Given the description of an element on the screen output the (x, y) to click on. 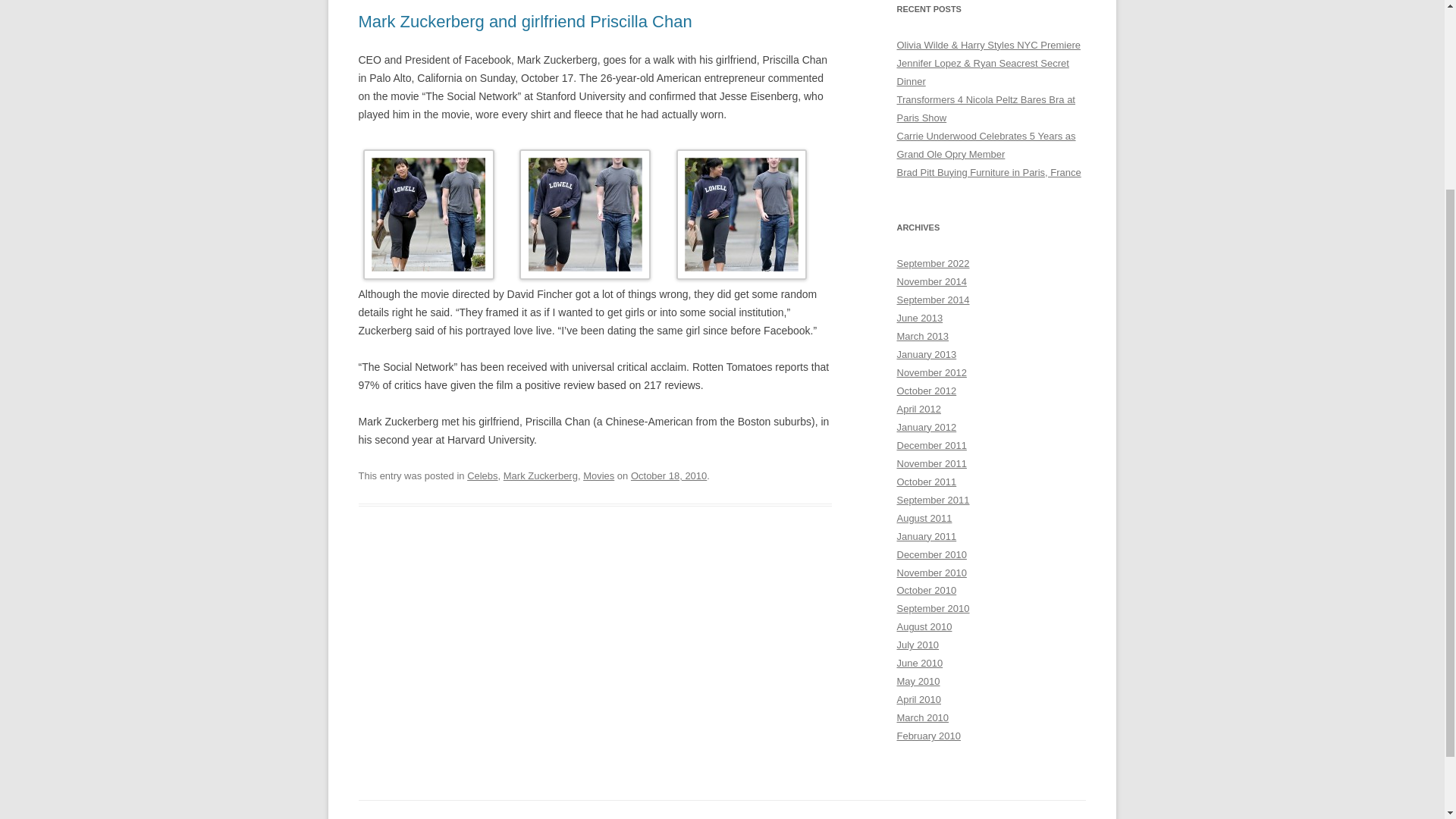
April 2012 (918, 408)
September 2014 (932, 299)
Celebs (482, 475)
5:13 pm (668, 475)
Brad Pitt Buying Furniture in Paris, France (988, 172)
October 2012 (926, 390)
January 2013 (926, 354)
November 2014 (931, 281)
November 2010 (931, 572)
Mark Zuckerberg and girlfriend Priscilla Chan (524, 21)
